Given the description of an element on the screen output the (x, y) to click on. 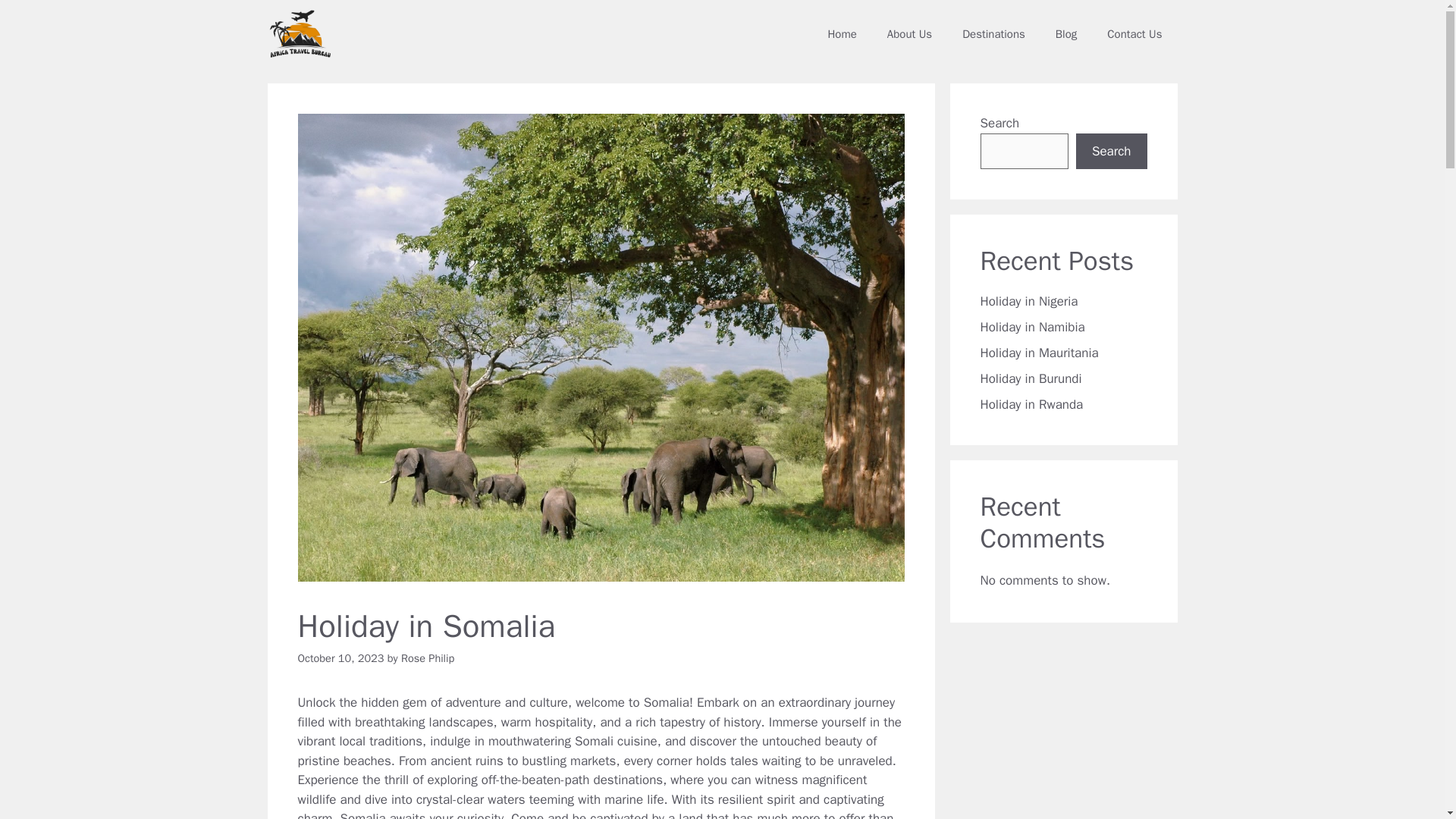
Contact Us (1134, 33)
Holiday in Mauritania (1038, 352)
Search (1111, 151)
View all posts by Rose Philip (427, 658)
Rose Philip (427, 658)
Africa Travel Bureau (298, 33)
About Us (909, 33)
Holiday in Rwanda (1031, 404)
Holiday in Burundi (1030, 378)
Holiday in Nigeria (1028, 301)
Blog (1066, 33)
Home (841, 33)
Destinations (994, 33)
Holiday in Namibia (1031, 326)
